Given the description of an element on the screen output the (x, y) to click on. 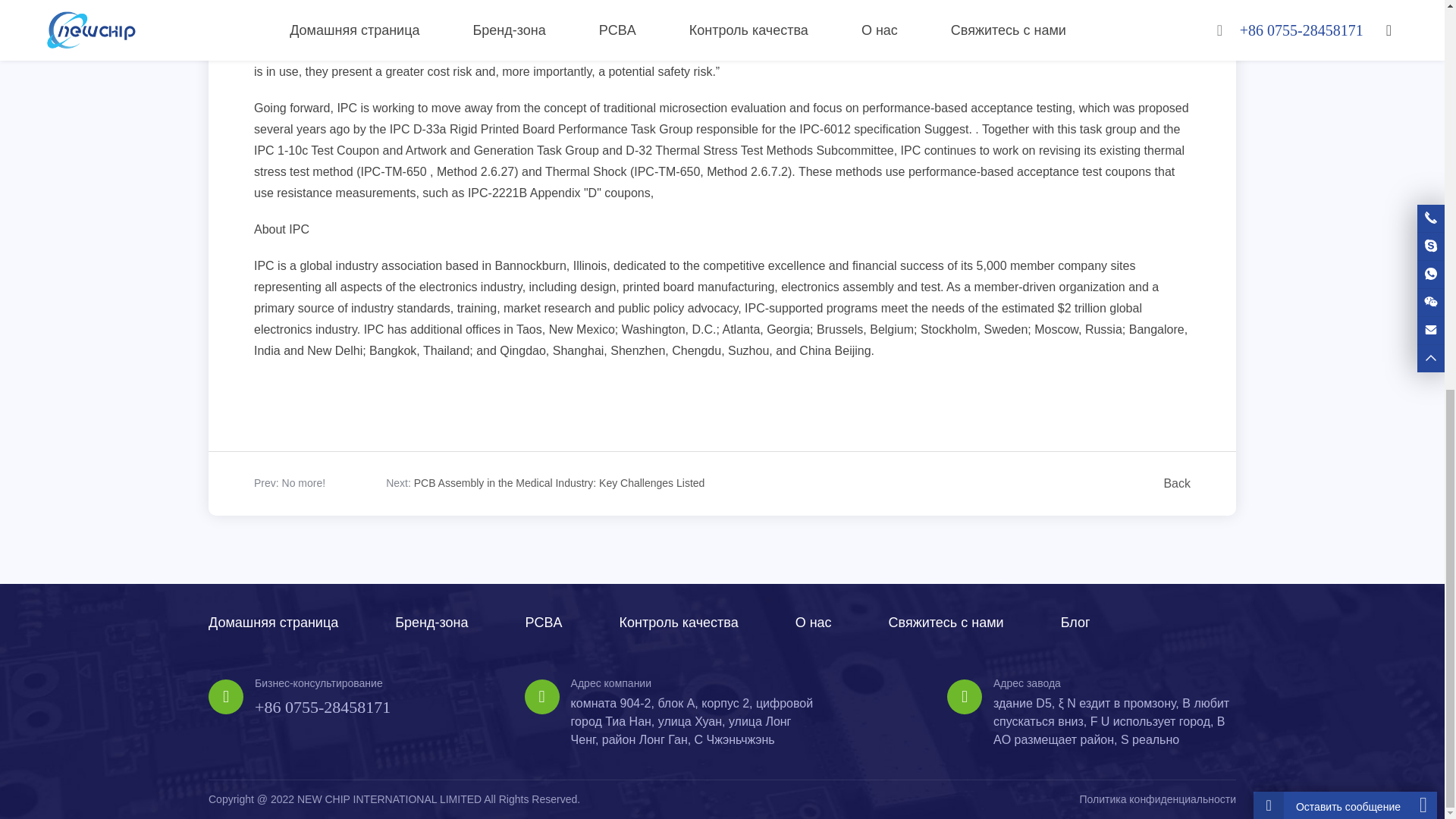
Back (1174, 484)
PCB Assembly in the Medical Industry: Key Challenges Listed (558, 482)
PCBA (543, 622)
